Given the description of an element on the screen output the (x, y) to click on. 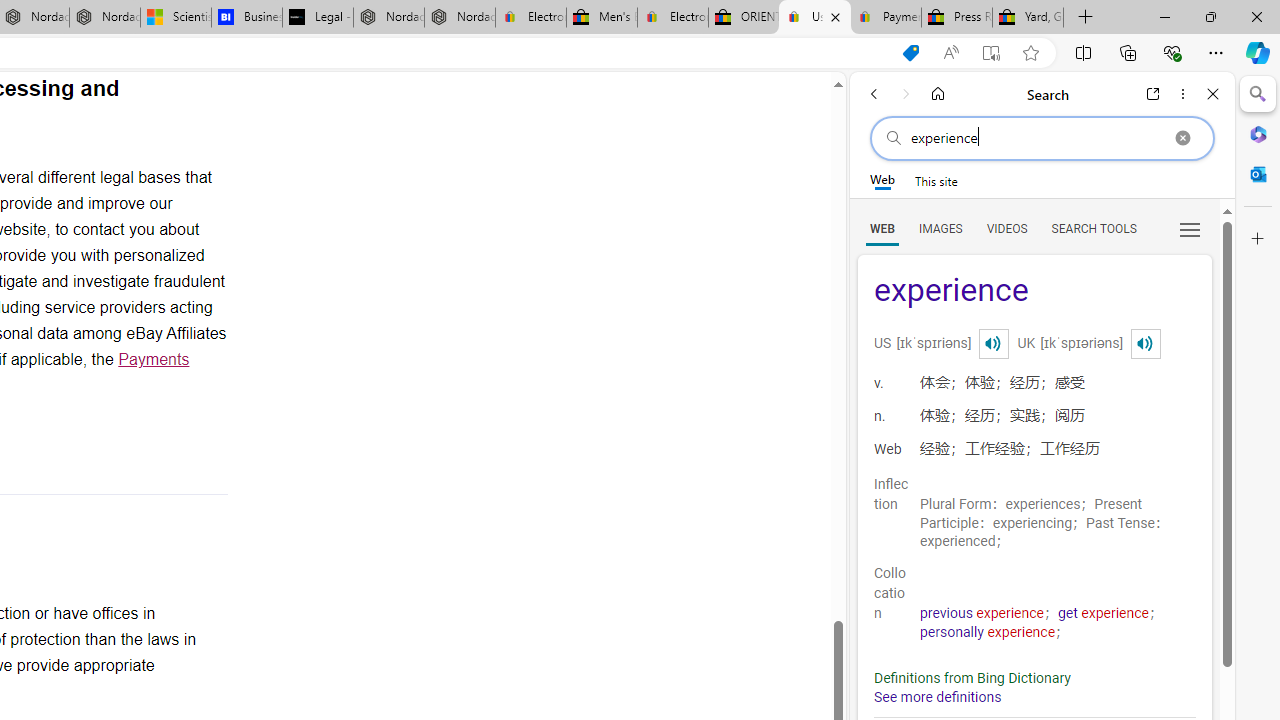
Clear (1182, 137)
See more definitions (938, 697)
get experience (1103, 613)
